Given the description of an element on the screen output the (x, y) to click on. 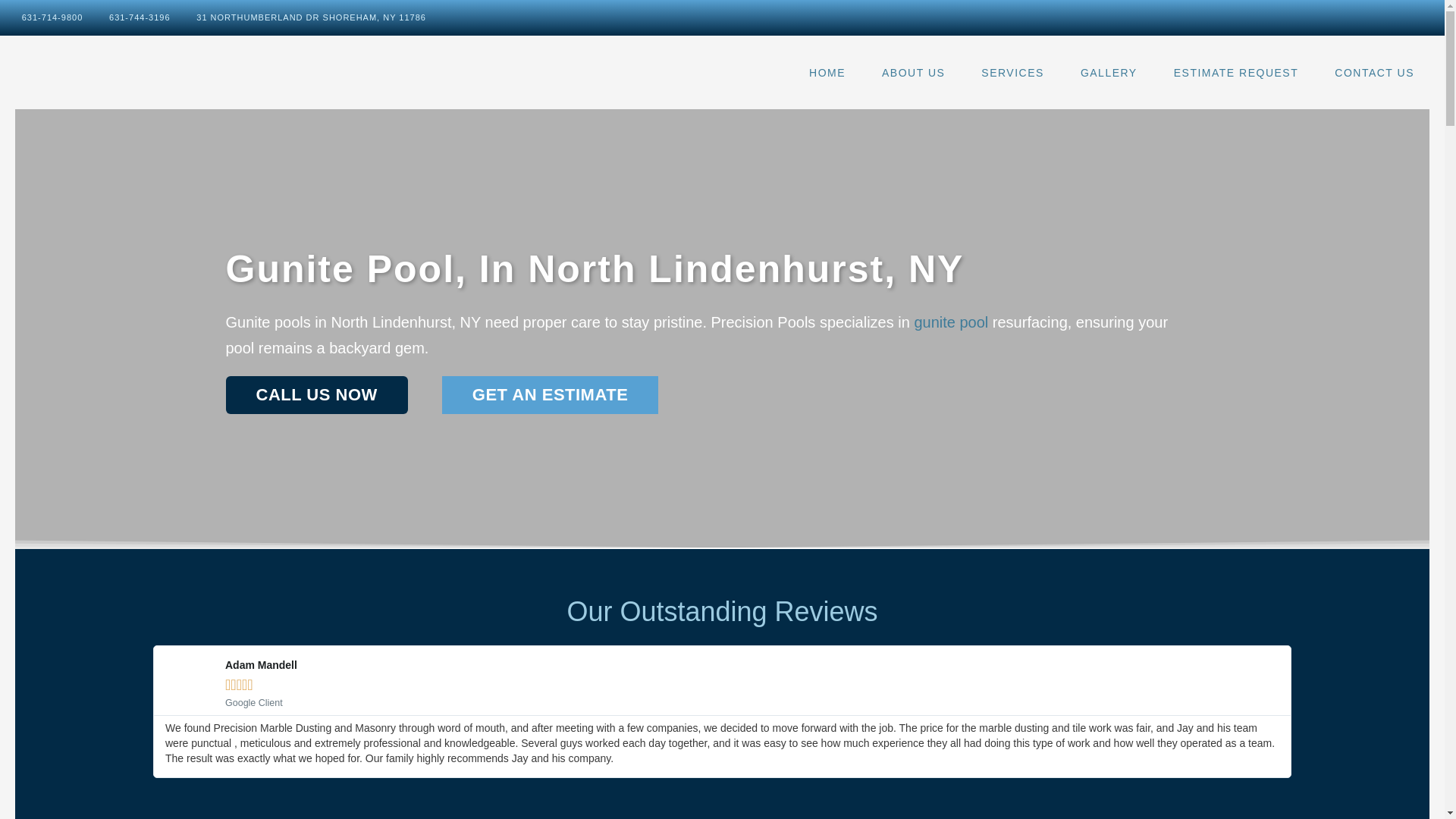
GALLERY (1109, 72)
ESTIMATE REQUEST (1236, 72)
631-714-9800 (44, 17)
SERVICES (1012, 72)
HOME (826, 72)
GET AN ESTIMATE (550, 394)
gunite pool (951, 321)
ABOUT US (912, 72)
CALL US NOW (316, 394)
CONTACT US (1374, 72)
